Given the description of an element on the screen output the (x, y) to click on. 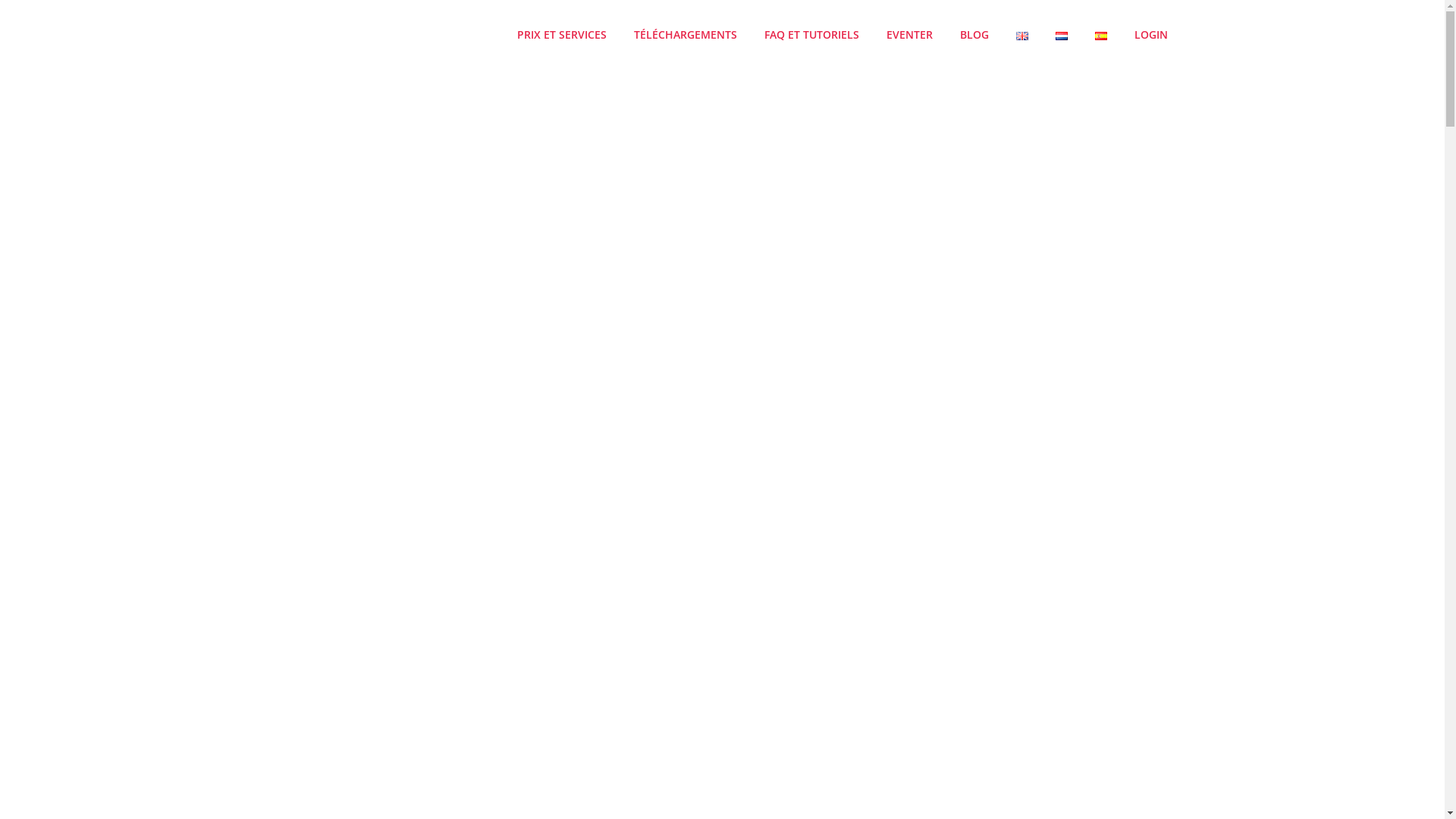
LOGIN Element type: text (1150, 34)
PRIX ET SERVICES Element type: text (561, 34)
BLOG Element type: text (973, 34)
EVENTER Element type: text (909, 34)
FAQ ET TUTORIELS Element type: text (810, 34)
